Given the description of an element on the screen output the (x, y) to click on. 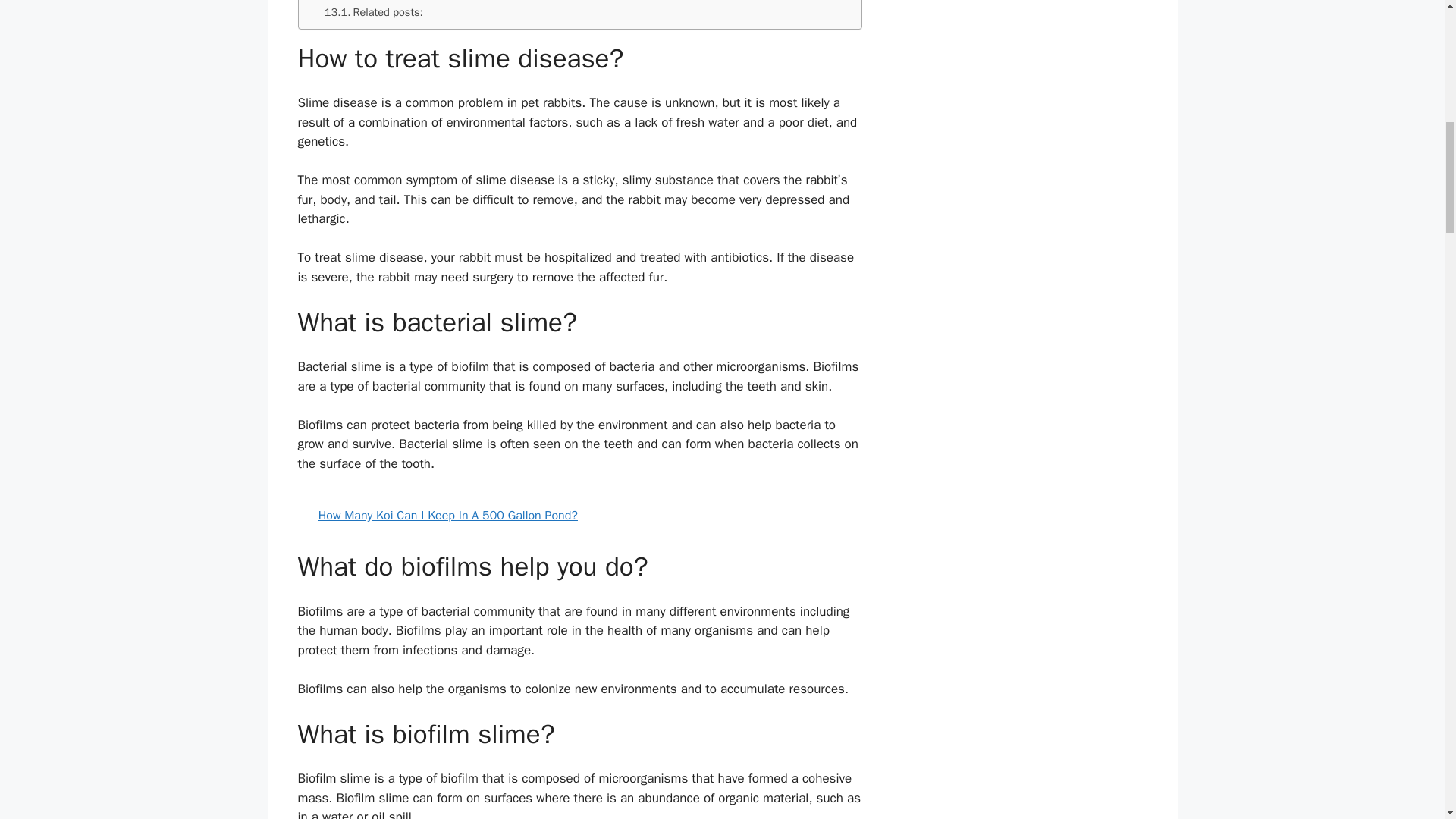
Related posts: (373, 11)
  How Many Koi Can I Keep In A 500 Gallon Pond? (579, 515)
Summary (341, 2)
